Given the description of an element on the screen output the (x, y) to click on. 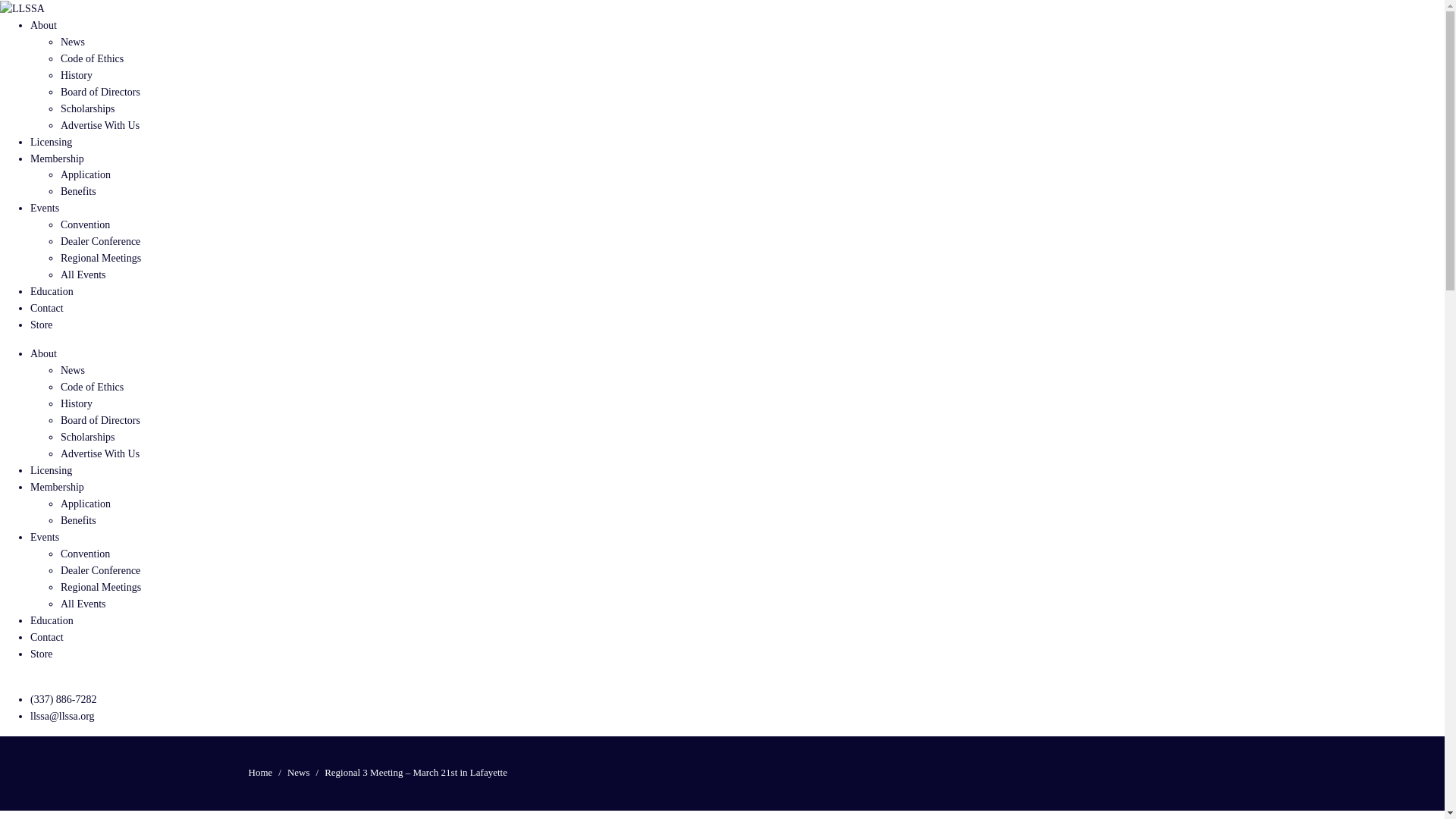
Application (85, 503)
Membership (57, 158)
Advertise With Us (100, 125)
Dealer Conference (100, 570)
Regional Meetings (101, 257)
About (43, 25)
Membership (57, 487)
Board of Directors (100, 91)
Application (85, 174)
Code of Ethics (92, 387)
